Given the description of an element on the screen output the (x, y) to click on. 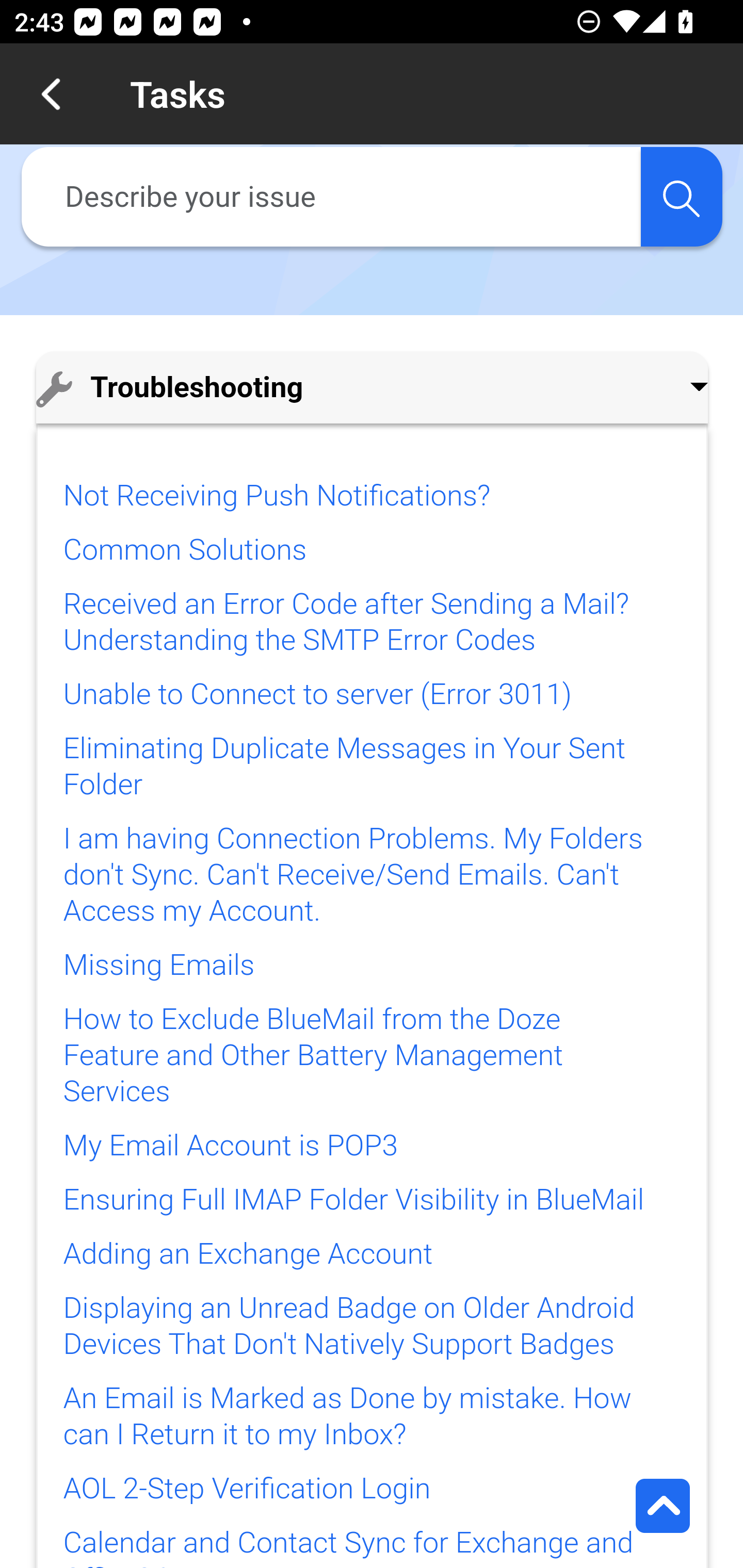
Navigate up (50, 93)
search (680, 196)
Not Receiving Push Notifications? (276, 496)
Common Solutions (183, 549)
Unable to Connect to server (Error 3011) (316, 695)
Eliminating Duplicate Messages in Your Sent Folder (343, 766)
Missing Emails (158, 965)
My Email Account is POP3 (229, 1145)
Ensuring Full IMAP Folder Visibility in BlueMail (352, 1200)
Adding an Exchange Account (247, 1254)
AOL 2-Step Verification Login (246, 1488)
